Given the description of an element on the screen output the (x, y) to click on. 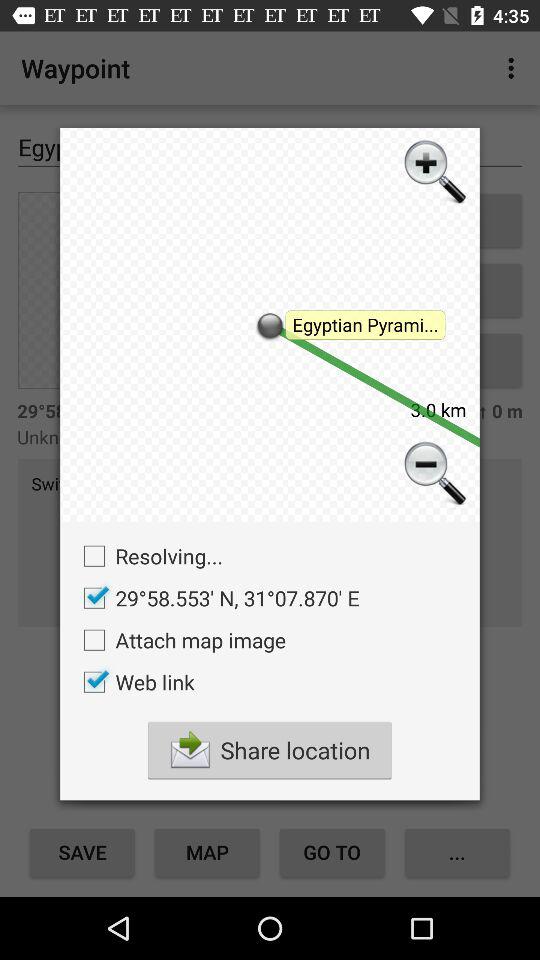
zoom in (433, 174)
